Given the description of an element on the screen output the (x, y) to click on. 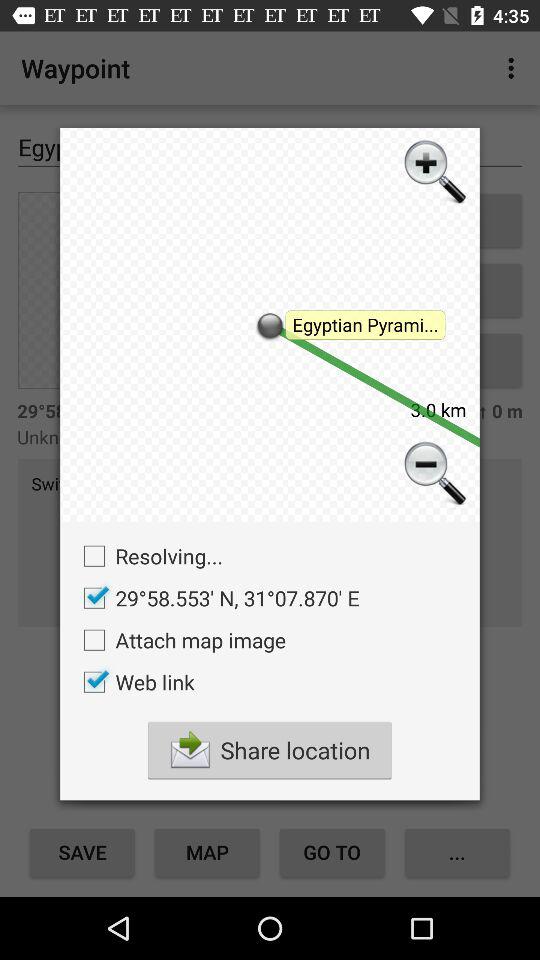
zoom in (433, 174)
